Given the description of an element on the screen output the (x, y) to click on. 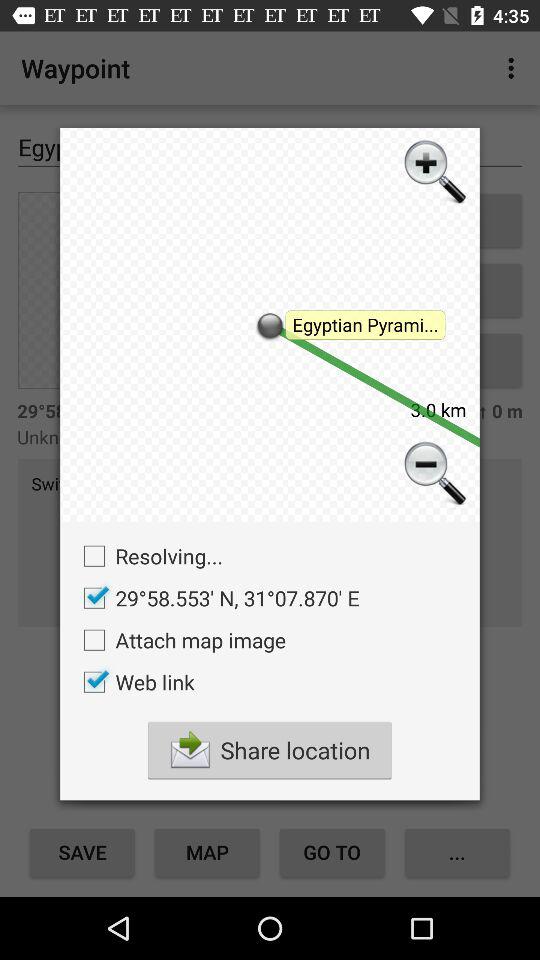
zoom in (433, 174)
